Given the description of an element on the screen output the (x, y) to click on. 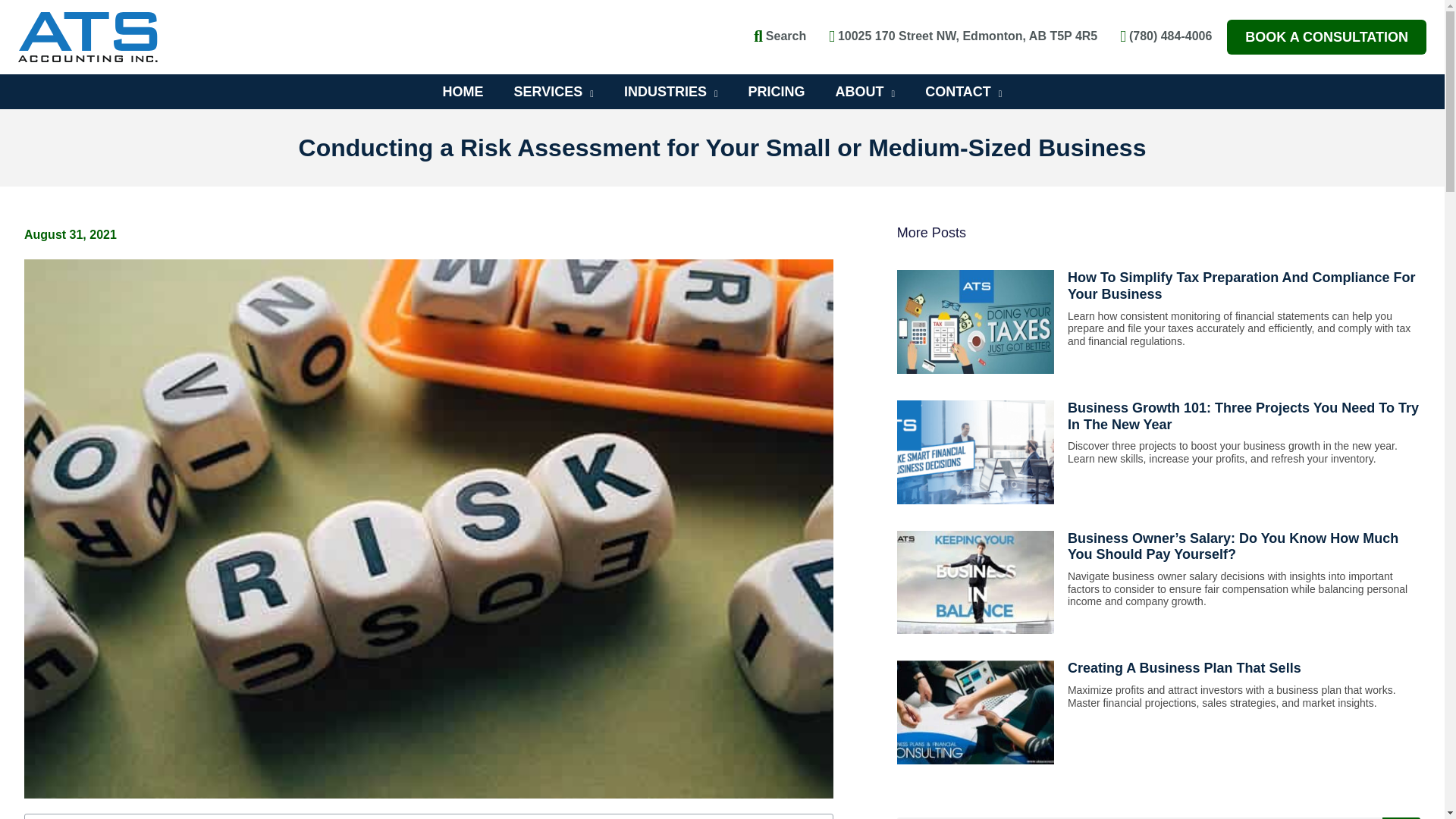
ABOUT (866, 91)
HOME (463, 91)
INDUSTRIES (670, 91)
SERVICES (553, 91)
Search (779, 37)
PRICING (777, 91)
10025 170 Street NW, Edmonton, AB T5P 4R5 (963, 37)
BOOK A CONSULTATION (1326, 36)
CONTACT (963, 91)
